Given the description of an element on the screen output the (x, y) to click on. 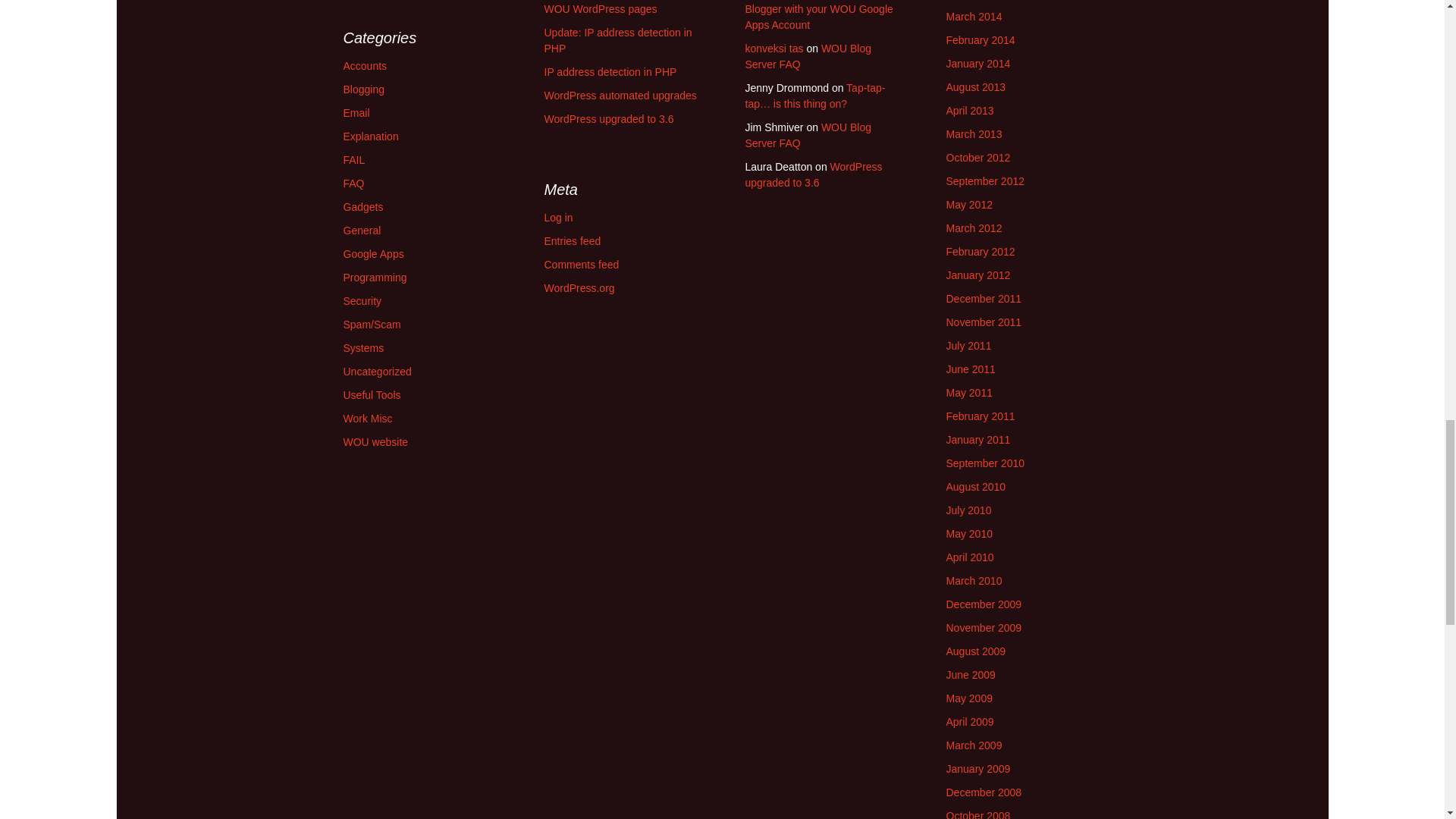
WordPress upgraded to 3.6 (609, 119)
Embedding Google calendars in WOU WordPress pages (619, 7)
WOU Blog Server FAQ (807, 56)
Update: IP address detection in PHP (618, 40)
IP address detection in PHP (610, 71)
WordPress automated upgrades (620, 95)
konveksi tas (773, 48)
